Given the description of an element on the screen output the (x, y) to click on. 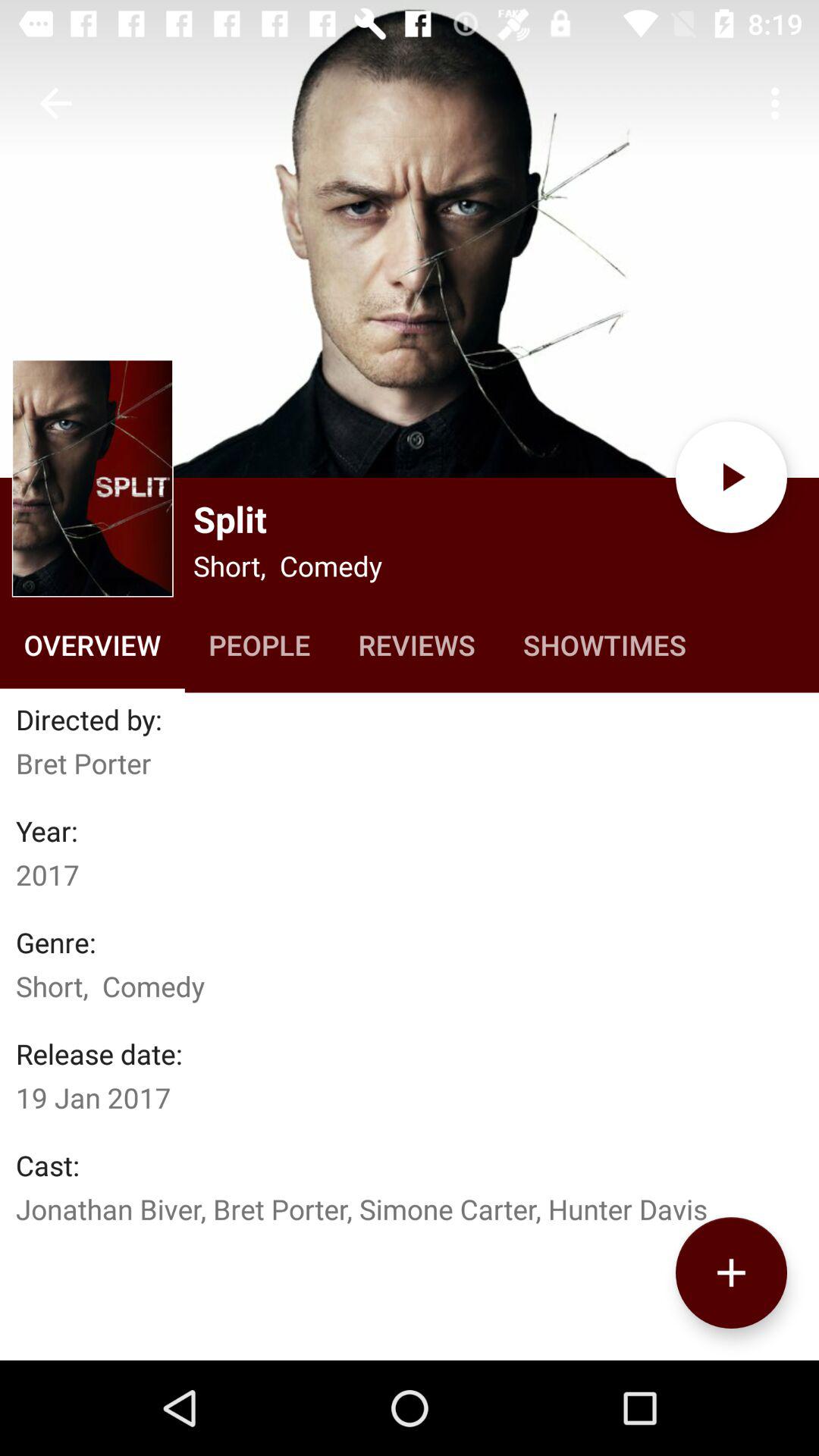
open image (92, 478)
